Given the description of an element on the screen output the (x, y) to click on. 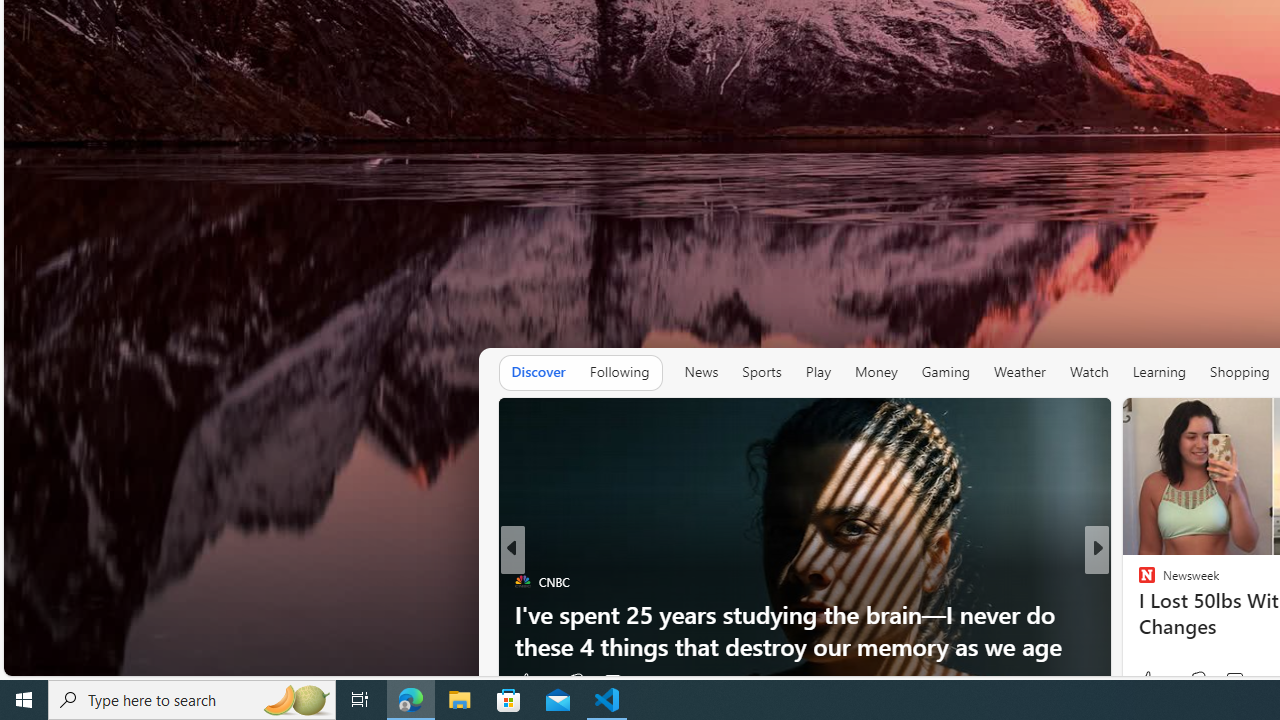
MetroOpinion (1167, 614)
View comments 9 Comment (1229, 681)
View comments 5 Comment (1234, 681)
AskThis (1138, 614)
1k Like (532, 681)
8 Like (1145, 681)
146 Like (1151, 681)
Moneywise (1138, 581)
